Given the description of an element on the screen output the (x, y) to click on. 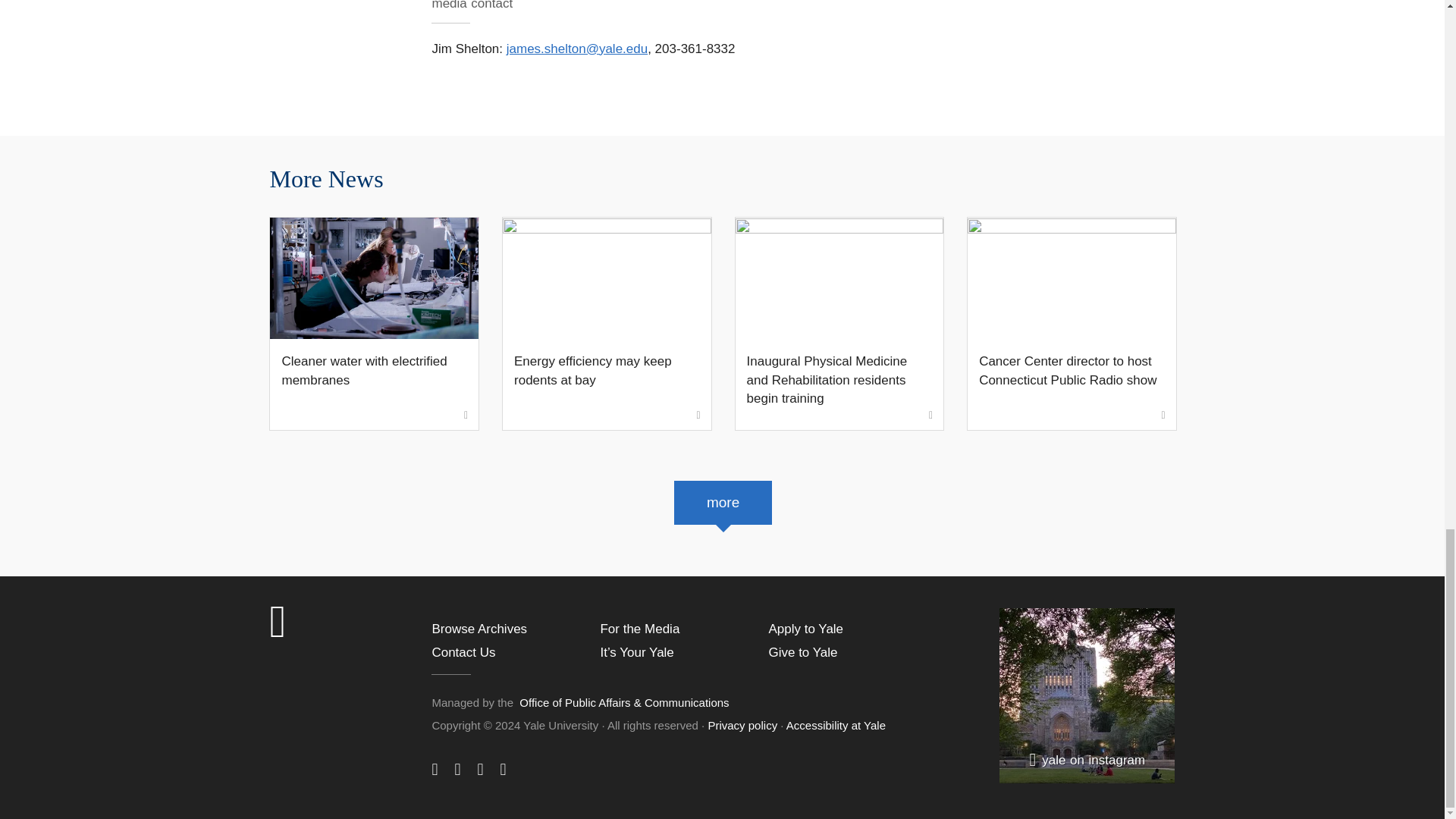
Accessibility at Yale (835, 725)
Cancer Center director to host Connecticut Public Radio show (1071, 323)
Cleaner water with electrified membranes (374, 323)
Energy efficiency may keep rodents at bay (606, 323)
Yale Privacy policy (742, 725)
